Given the description of an element on the screen output the (x, y) to click on. 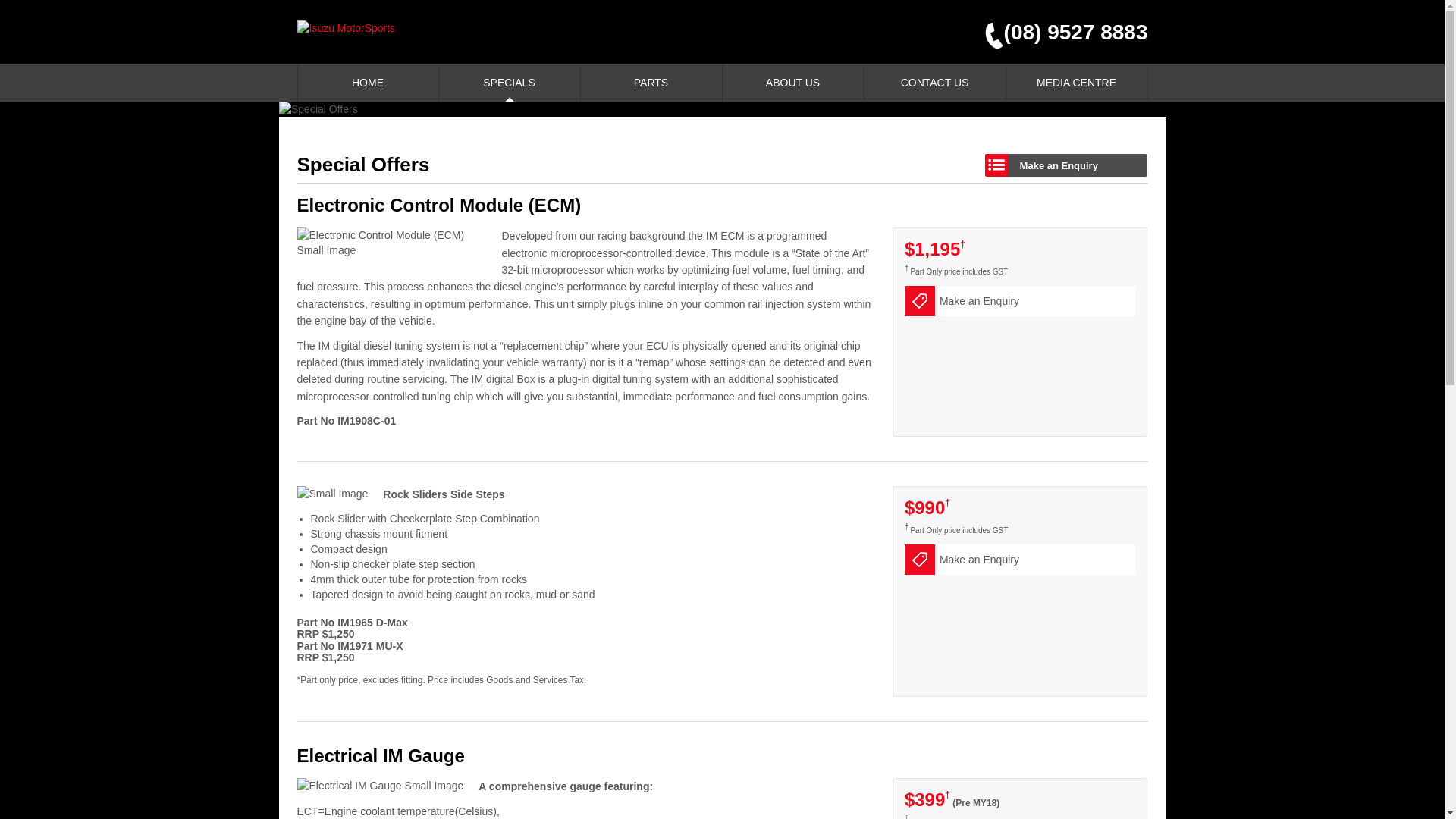
HOME Element type: text (367, 82)
(08) 9527 8883 Element type: text (1060, 32)
Make an Enquiry Element type: text (1019, 300)
SPECIALS Element type: text (508, 82)
Make an Enquiry Element type: text (1019, 559)
MEDIA CENTRE Element type: text (1075, 82)
PARTS Element type: text (650, 82)
Make an Enquiry Element type: text (1066, 164)
CONTACT US Element type: text (934, 82)
ABOUT US Element type: text (791, 82)
